Given the description of an element on the screen output the (x, y) to click on. 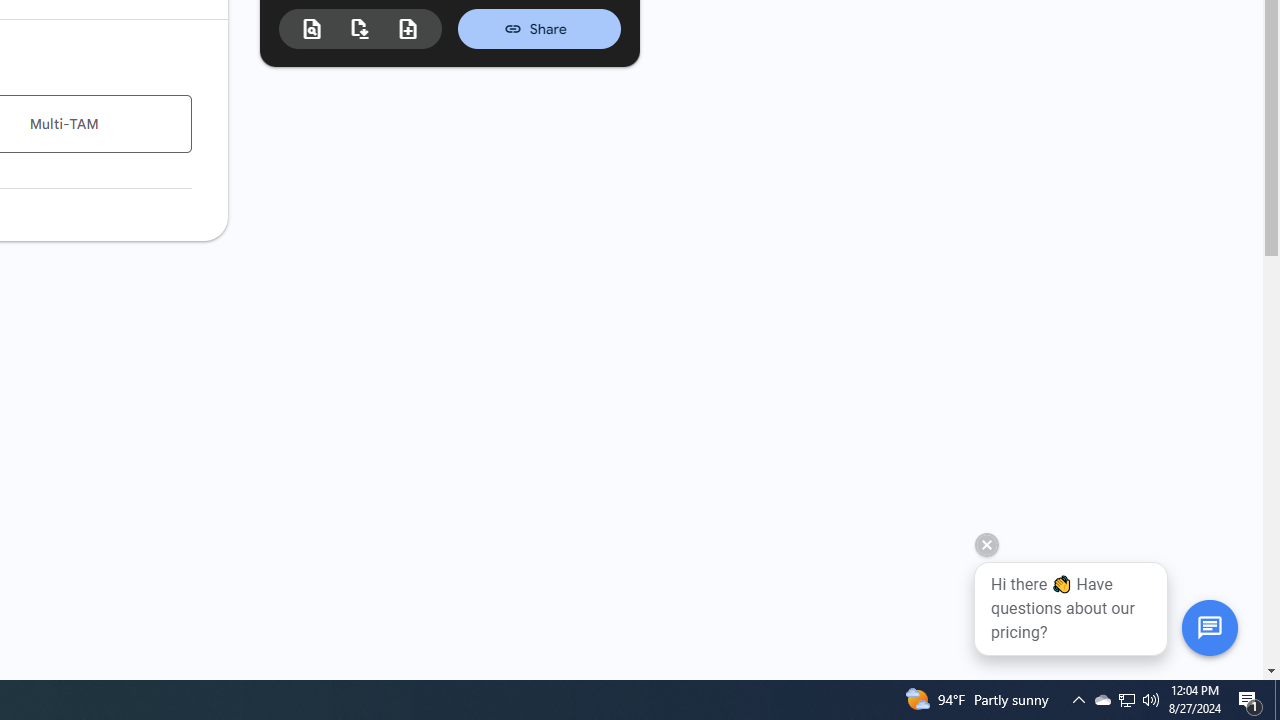
Open Share Estimate dialog (539, 28)
Open detailed view (312, 29)
Download estimate as .csv (360, 28)
New estimate from duplicate (408, 29)
Button to activate chat (1209, 627)
